Given the description of an element on the screen output the (x, y) to click on. 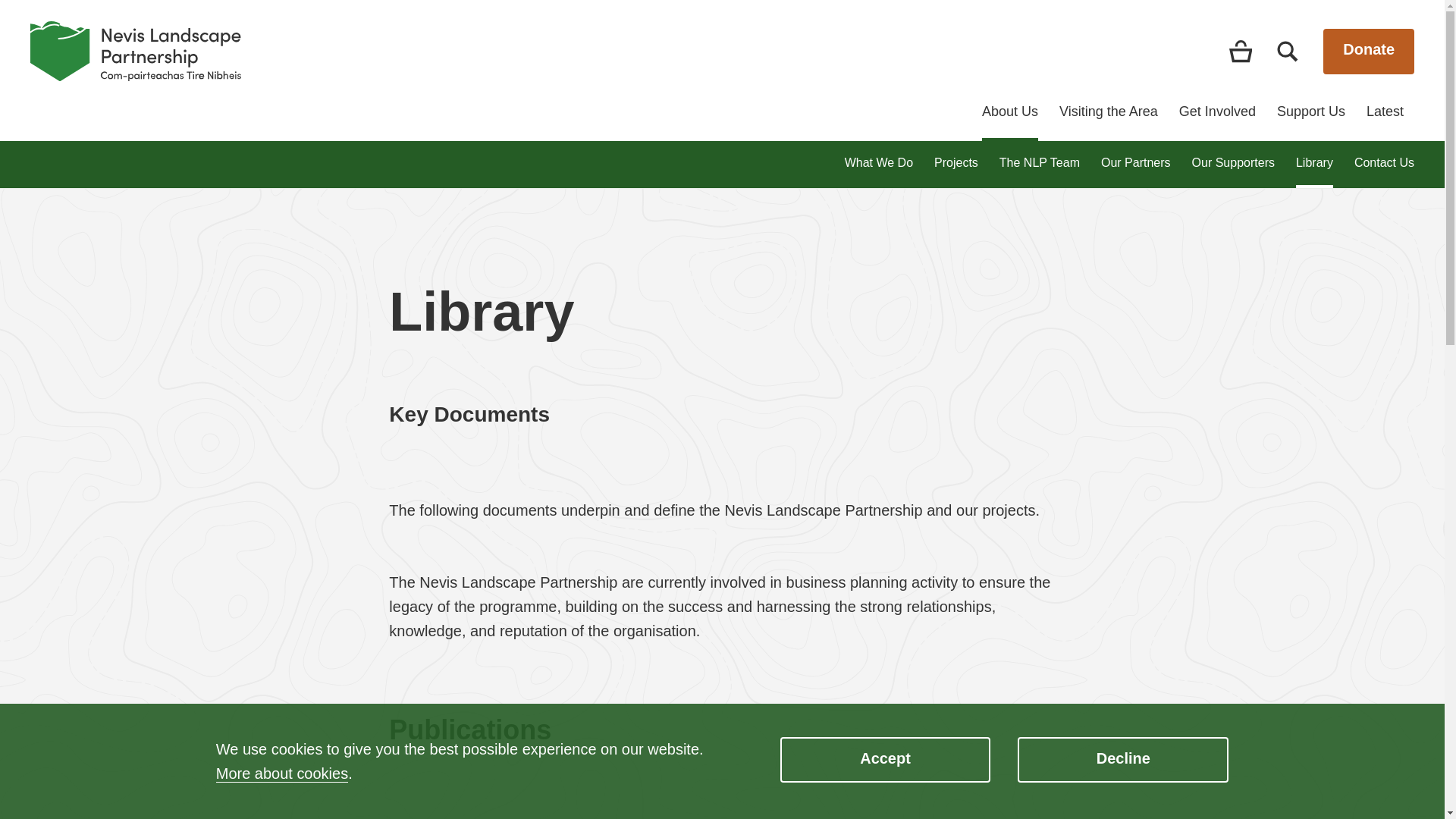
Support Us (1310, 121)
Latest (1385, 121)
More about cookies (281, 773)
Donate (1368, 51)
What We Do (878, 162)
Decline (1122, 759)
Get Involved (1217, 121)
Accept (885, 759)
About Us (1009, 121)
Visiting the Area (1108, 121)
